Given the description of an element on the screen output the (x, y) to click on. 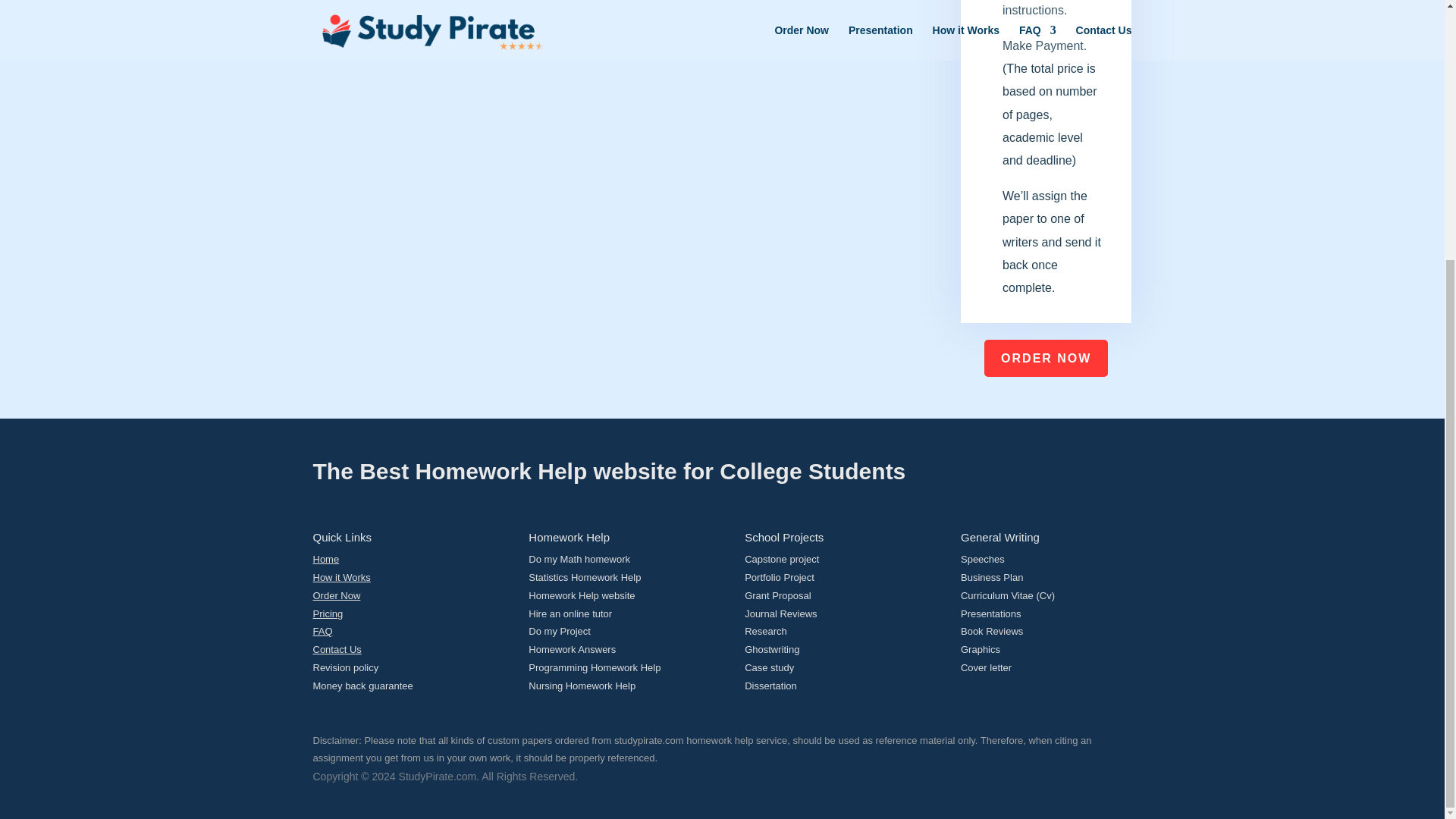
Home (326, 559)
How it Works (341, 577)
FAQ (322, 631)
Contact Us (337, 649)
Order Now (336, 595)
ORDER NOW (1046, 357)
Pricing (327, 613)
